Given the description of an element on the screen output the (x, y) to click on. 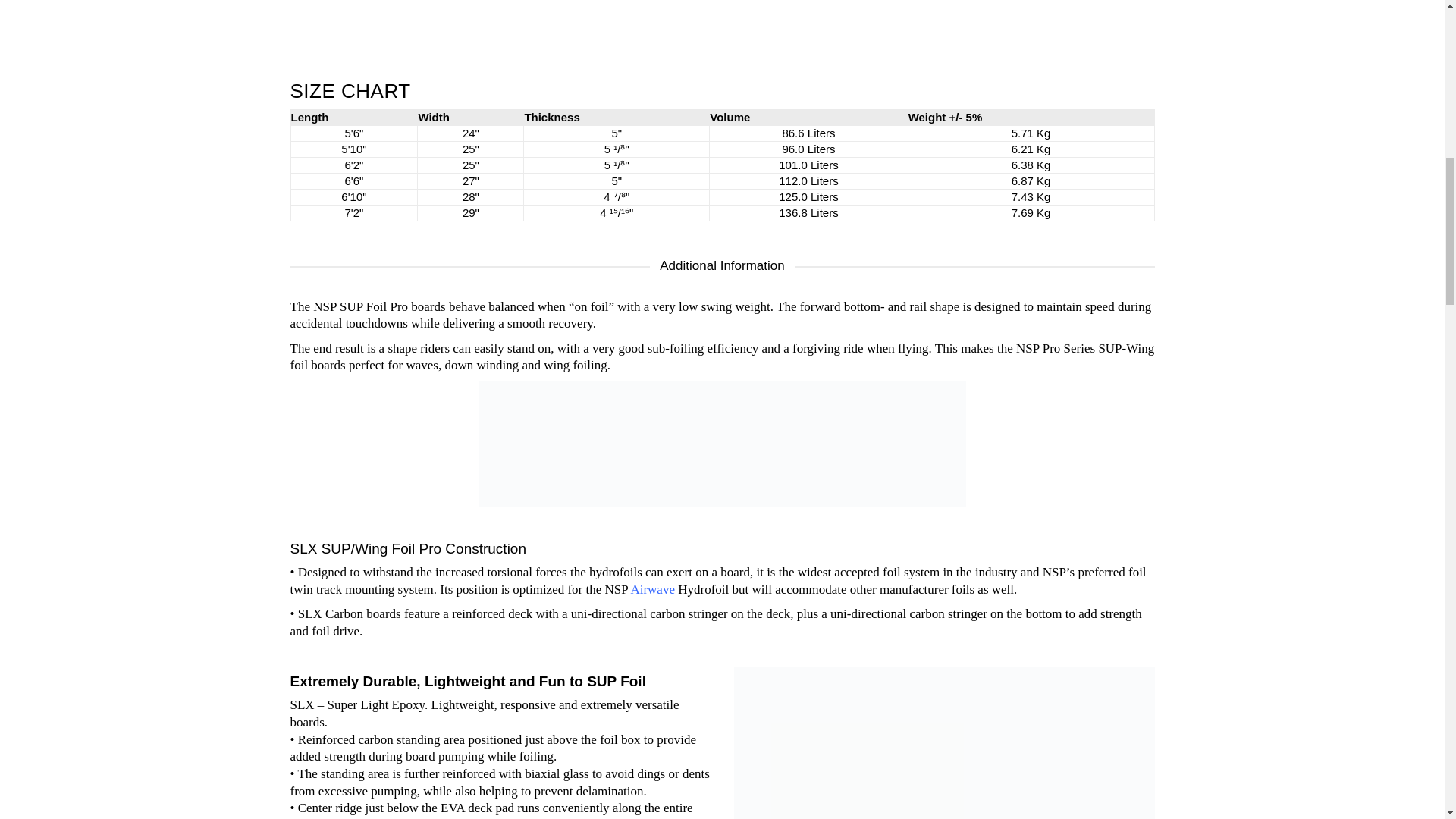
Page 1 (951, 21)
slx sup foil technology (943, 742)
Page 11 (499, 746)
